Given the description of an element on the screen output the (x, y) to click on. 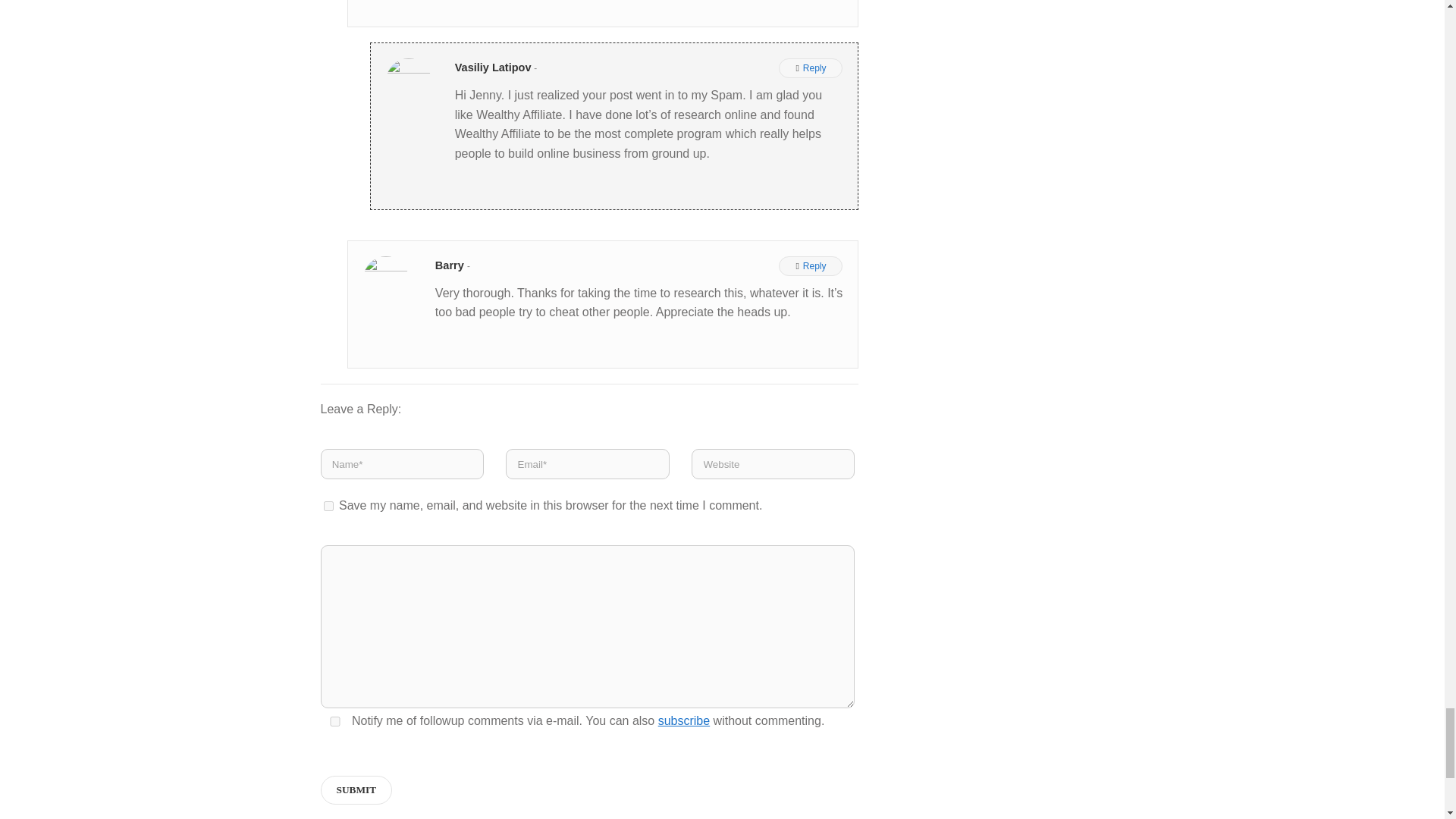
SUBMIT (355, 789)
yes (334, 721)
yes (328, 506)
